Given the description of an element on the screen output the (x, y) to click on. 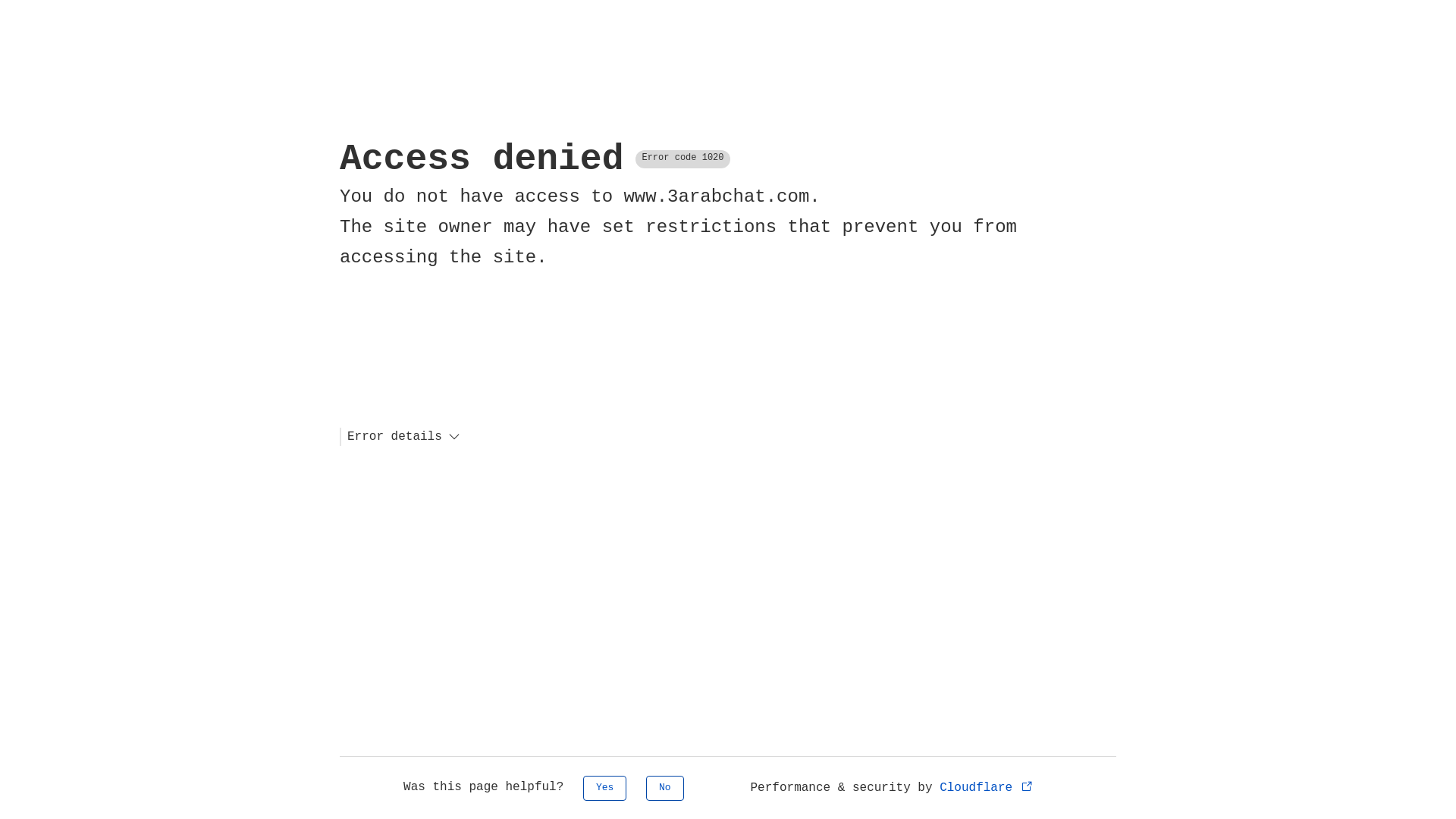
Cloudflare Element type: text (986, 787)
Opens in new tab Element type: hover (1027, 785)
Yes Element type: text (604, 787)
No Element type: text (665, 787)
